Given the description of an element on the screen output the (x, y) to click on. 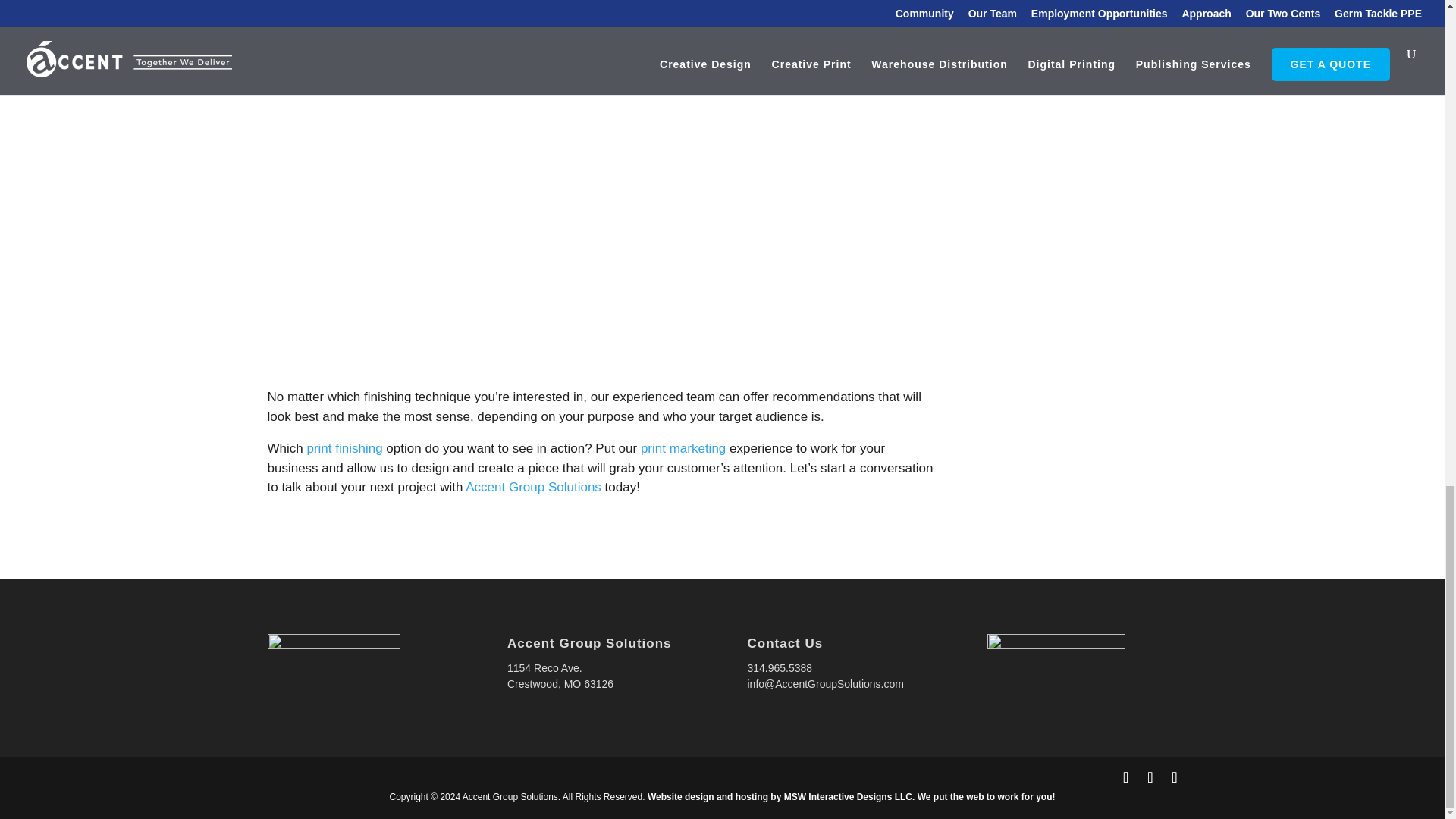
print marketing (682, 448)
314.965.5388 (780, 667)
print finishing (343, 448)
Accent Group Solutions (533, 486)
